Given the description of an element on the screen output the (x, y) to click on. 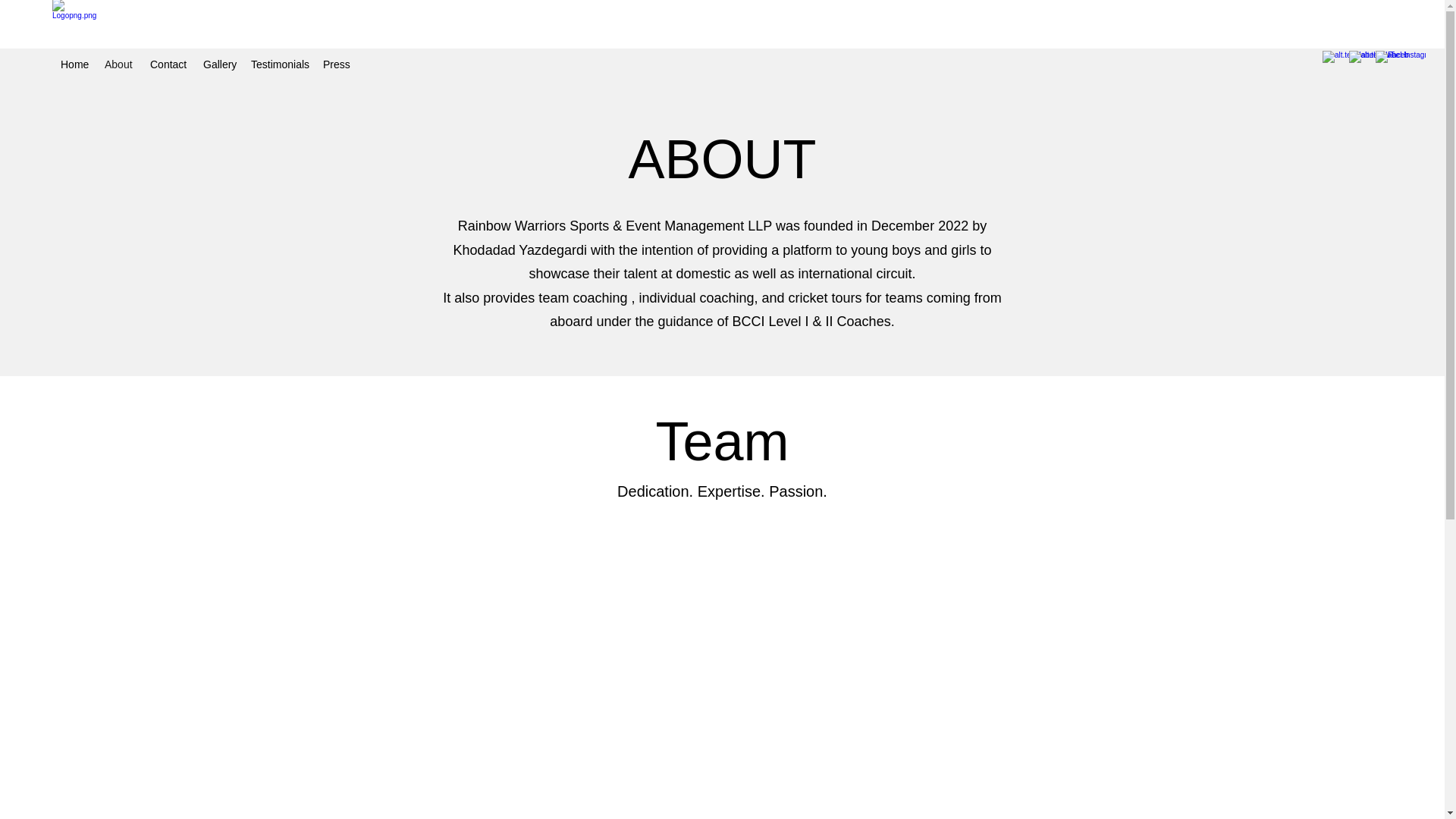
Testimonials (279, 64)
About (119, 64)
Contact (168, 64)
Press (335, 64)
Home (74, 64)
Gallery (219, 64)
